Given the description of an element on the screen output the (x, y) to click on. 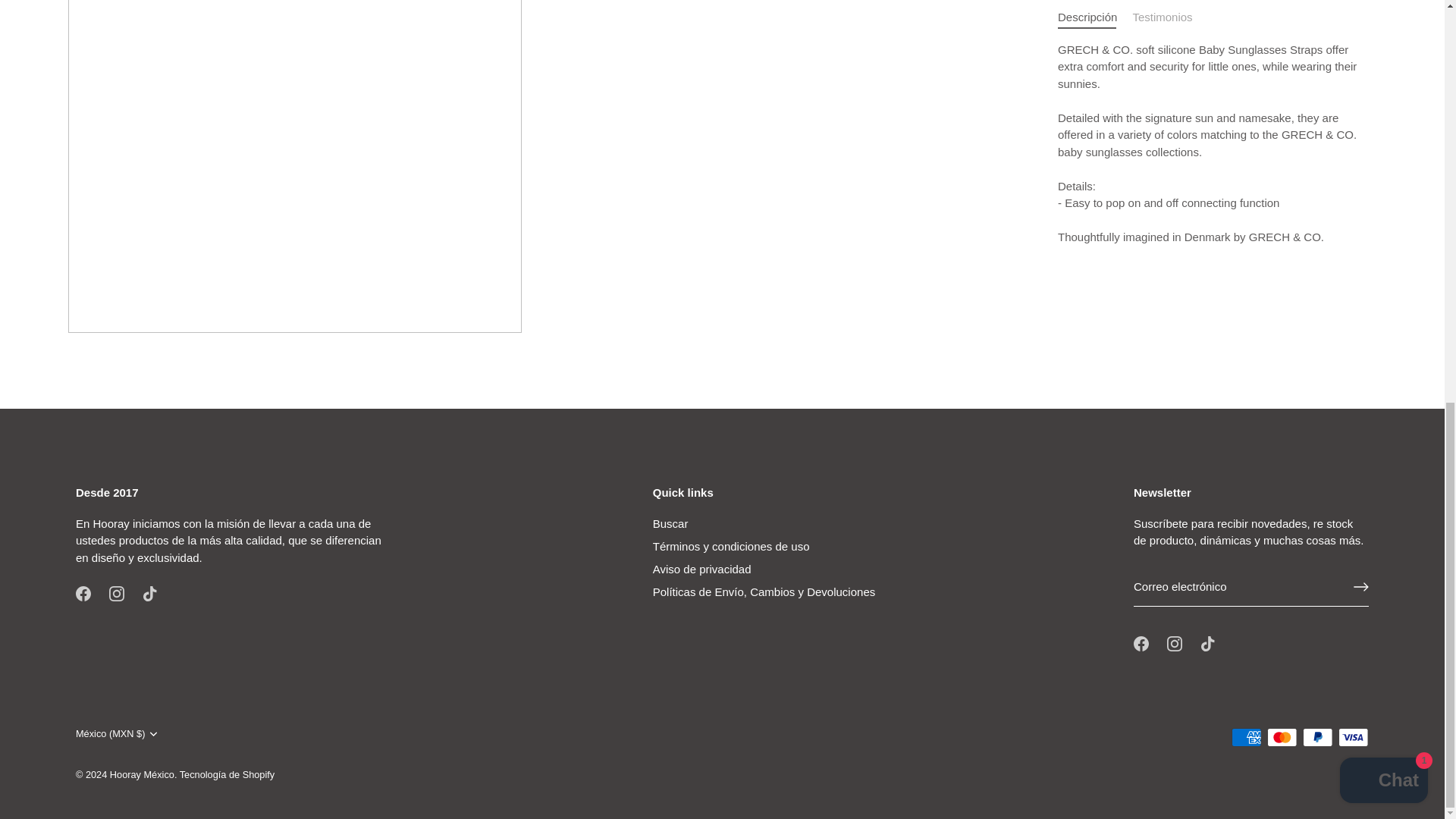
Instagram (116, 593)
Mastercard (1281, 737)
Instagram (1174, 643)
Chat de la tienda online Shopify (1383, 7)
PayPal (1317, 737)
RIGHT ARROW LONG (1361, 586)
American Express (1245, 737)
Visa (1353, 737)
